Given the description of an element on the screen output the (x, y) to click on. 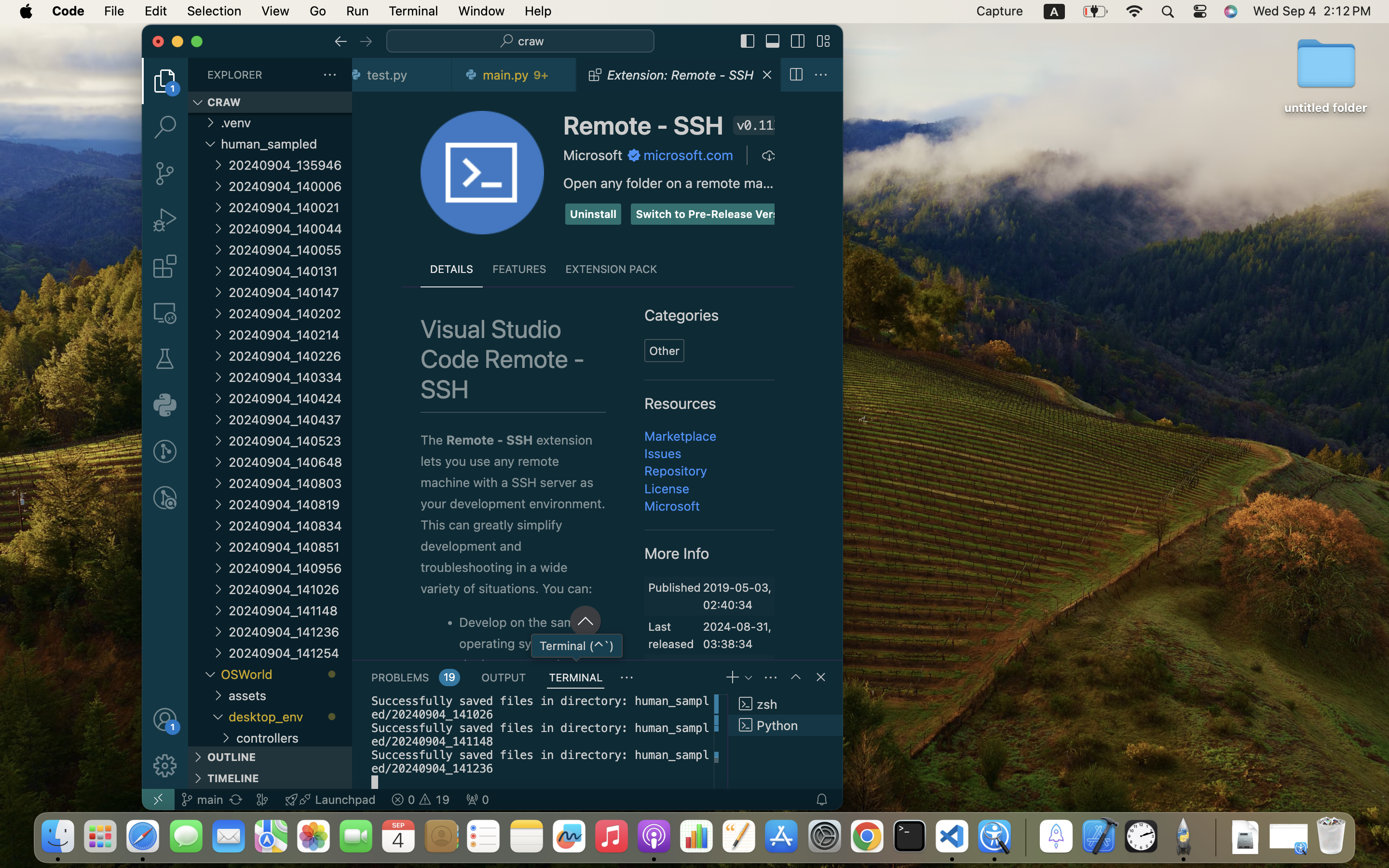
20240904_140648 Element type: AXGroup (290, 461)
desktop_env  Element type: AXGroup (290, 716)
 Element type: AXButton (795, 74)
0 OUTPUT Element type: AXRadioButton (503, 676)
extension lets you use any remote machine with a SSH server as your development environment. This can greatly simplify development and troubleshooting in a wide variety of situations. You can: Element type: AXStaticText (512, 514)
